Given the description of an element on the screen output the (x, y) to click on. 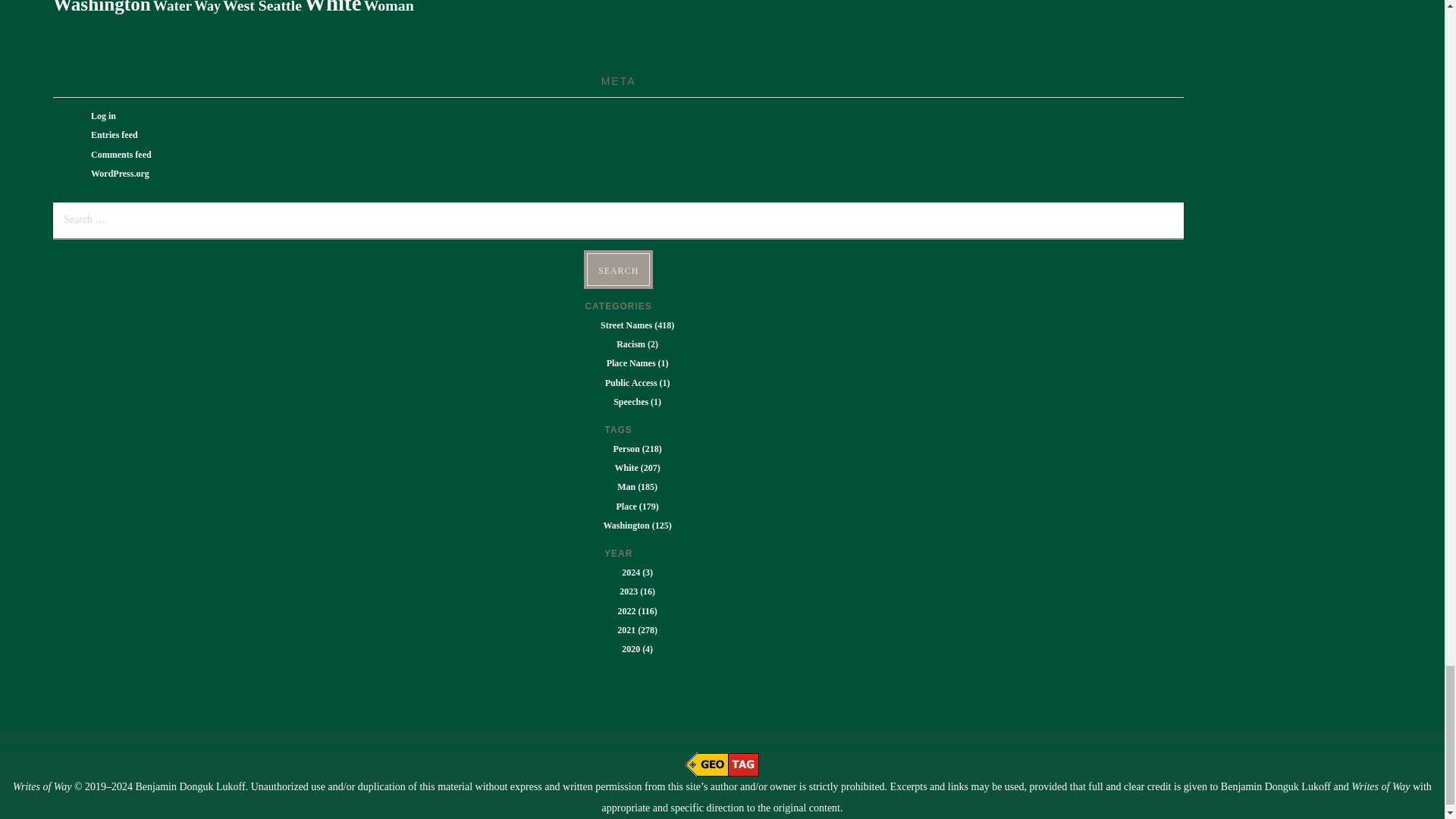
Search (617, 269)
Search (617, 269)
